Given the description of an element on the screen output the (x, y) to click on. 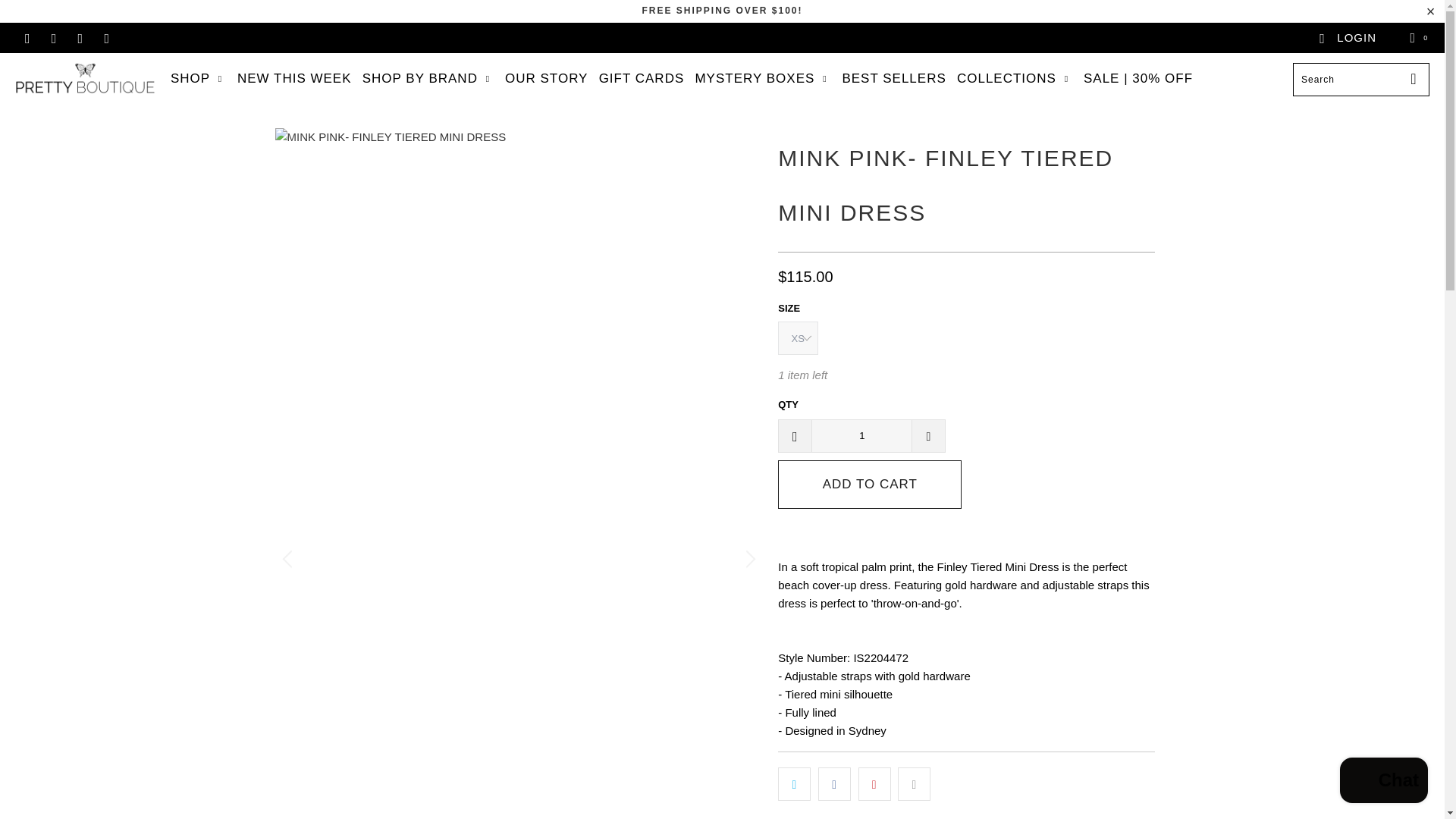
Pretty Boutique  on Instagram (79, 37)
Pretty Boutique  on Pinterest (53, 37)
Email Pretty Boutique  (107, 37)
Pretty Boutique  (84, 78)
Share this on Pinterest (875, 783)
My Account  (1346, 37)
Pretty Boutique  on Facebook (26, 37)
Share this on Twitter (793, 783)
Email this to a friend (914, 783)
Share this on Facebook (834, 783)
